Given the description of an element on the screen output the (x, y) to click on. 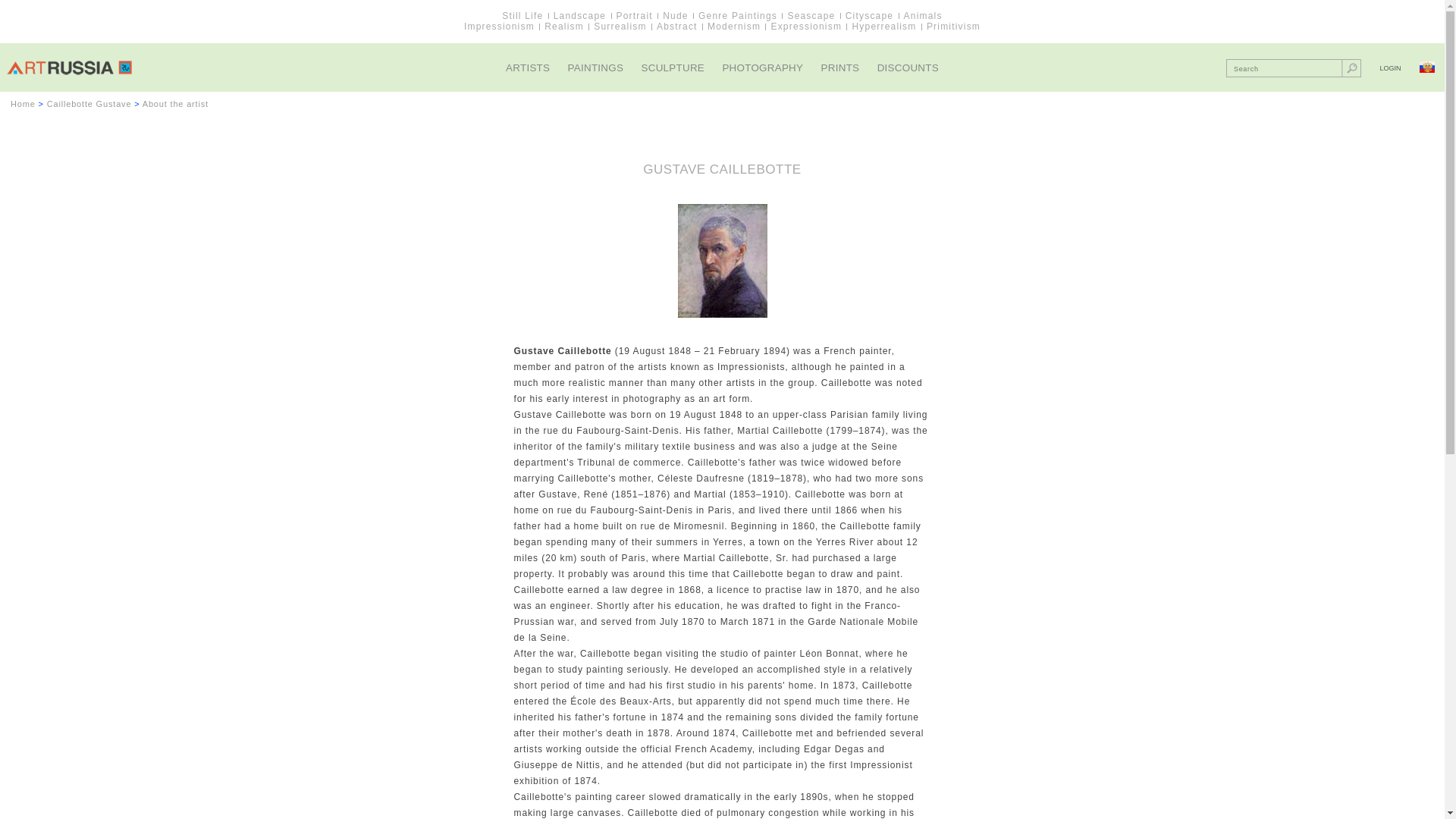
PHOTOGRAPHY (762, 67)
ARTISTS (527, 67)
PRINTS (840, 67)
Modernism (733, 26)
Animals (923, 15)
Hyperrealism (883, 26)
Nude (675, 15)
Primitivism (952, 26)
DISCOUNTS (908, 67)
Abstract (676, 26)
Seascape (810, 15)
Still Life (522, 15)
SCULPTURE (673, 67)
Home (22, 103)
PAINTINGS (595, 67)
